Given the description of an element on the screen output the (x, y) to click on. 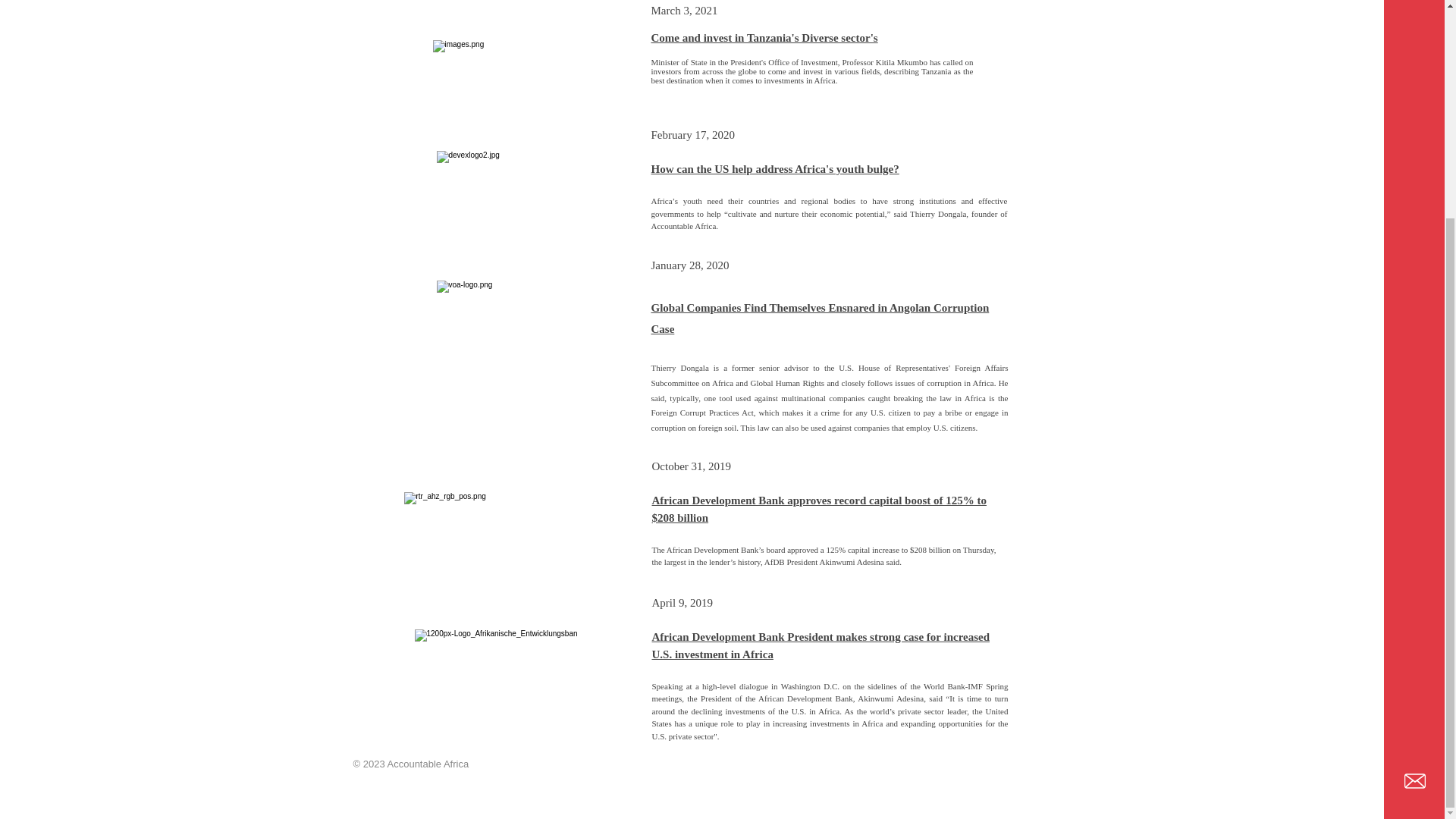
Come and invest in Tanzania's Diverse sector's (763, 37)
How can the US help address Africa's youth bulge? (774, 168)
